Given the description of an element on the screen output the (x, y) to click on. 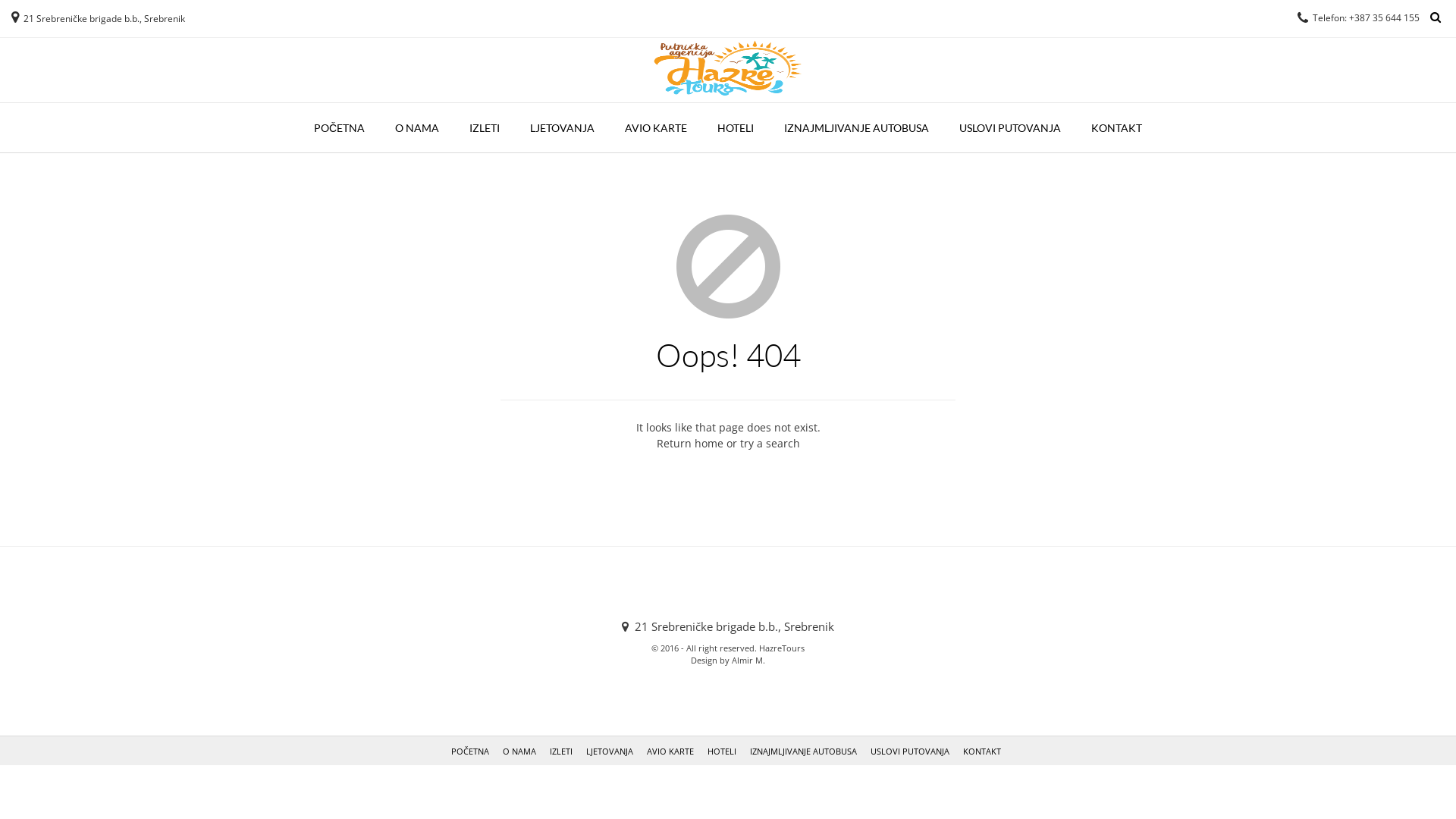
AVIO KARTE Element type: text (669, 750)
IZLETI Element type: text (484, 128)
IZNAJMLJIVANJE AUTOBUSA Element type: text (802, 750)
AVIO KARTE Element type: text (655, 128)
O NAMA Element type: text (416, 128)
HOTELI Element type: text (721, 750)
HAZRE TOURS Element type: hover (727, 67)
USLOVI PUTOVANJA Element type: text (1010, 128)
IZLETI Element type: text (560, 750)
IZNAJMLJIVANJE AUTOBUSA Element type: text (856, 128)
O NAMA Element type: text (519, 750)
LJETOVANJA Element type: text (609, 750)
KONTAKT Element type: text (982, 750)
HOTELI Element type: text (735, 128)
KONTAKT Element type: text (1116, 128)
LJETOVANJA Element type: text (561, 128)
USLOVI PUTOVANJA Element type: text (909, 750)
